Given the description of an element on the screen output the (x, y) to click on. 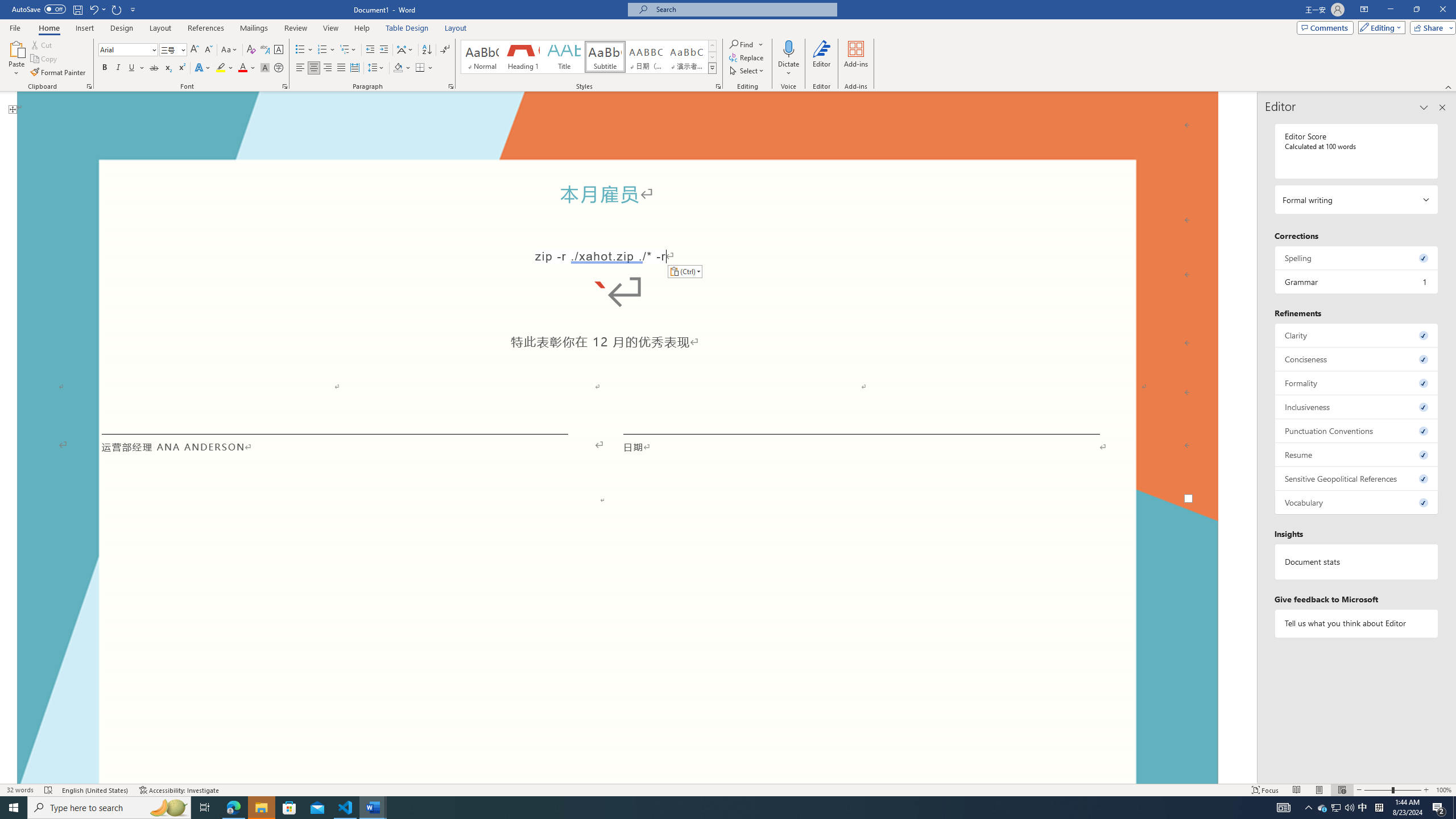
Undo Paste (96, 9)
Text Highlight Color Yellow (220, 67)
Center (313, 67)
Vocabulary, 0 issues. Press space or enter to review items. (1356, 502)
